Given the description of an element on the screen output the (x, y) to click on. 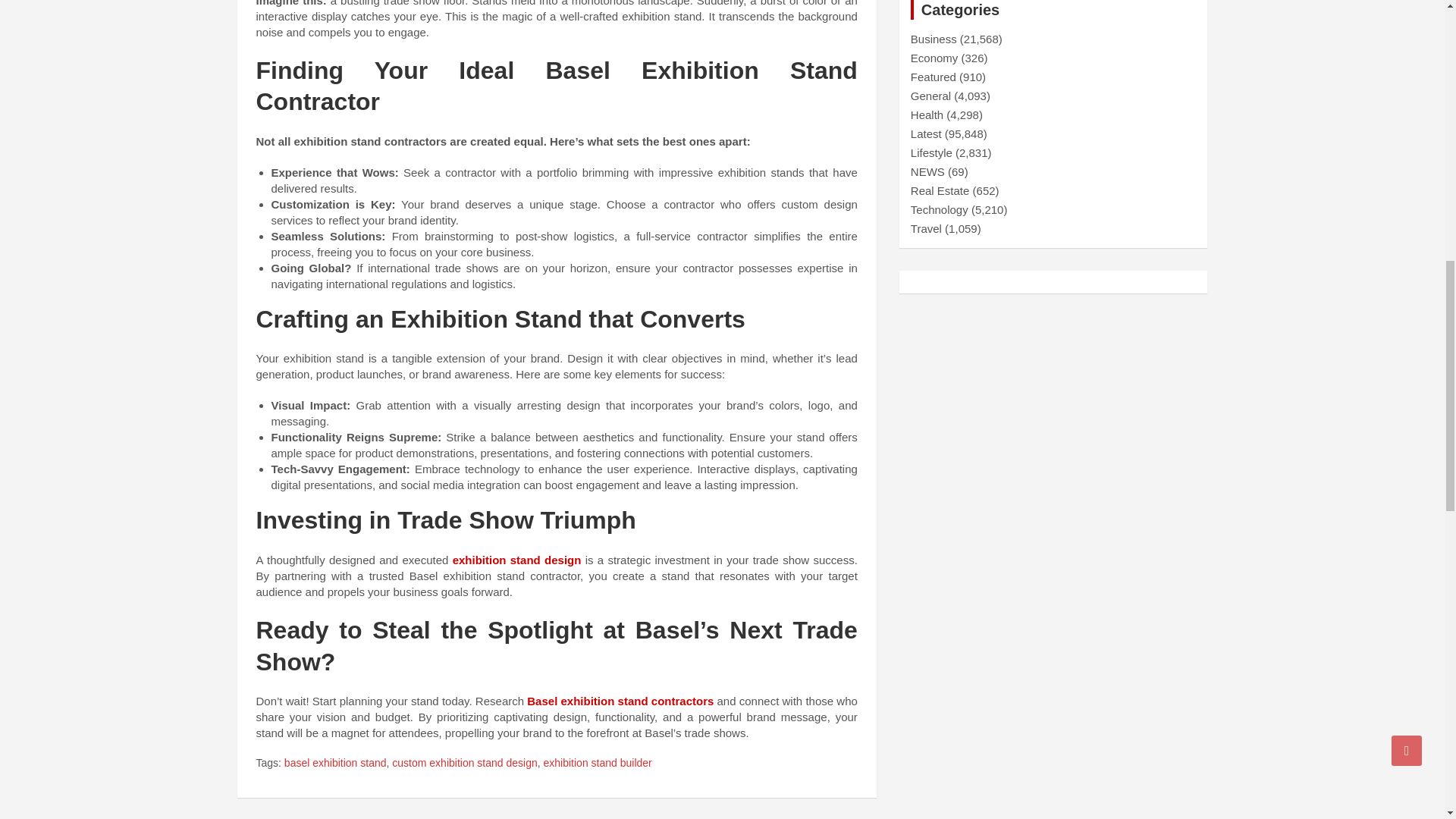
basel exhibition stand (335, 763)
custom exhibition stand design (464, 763)
Basel exhibition stand contractors (620, 700)
exhibition stand builder (597, 763)
exhibition stand design (516, 559)
